Given the description of an element on the screen output the (x, y) to click on. 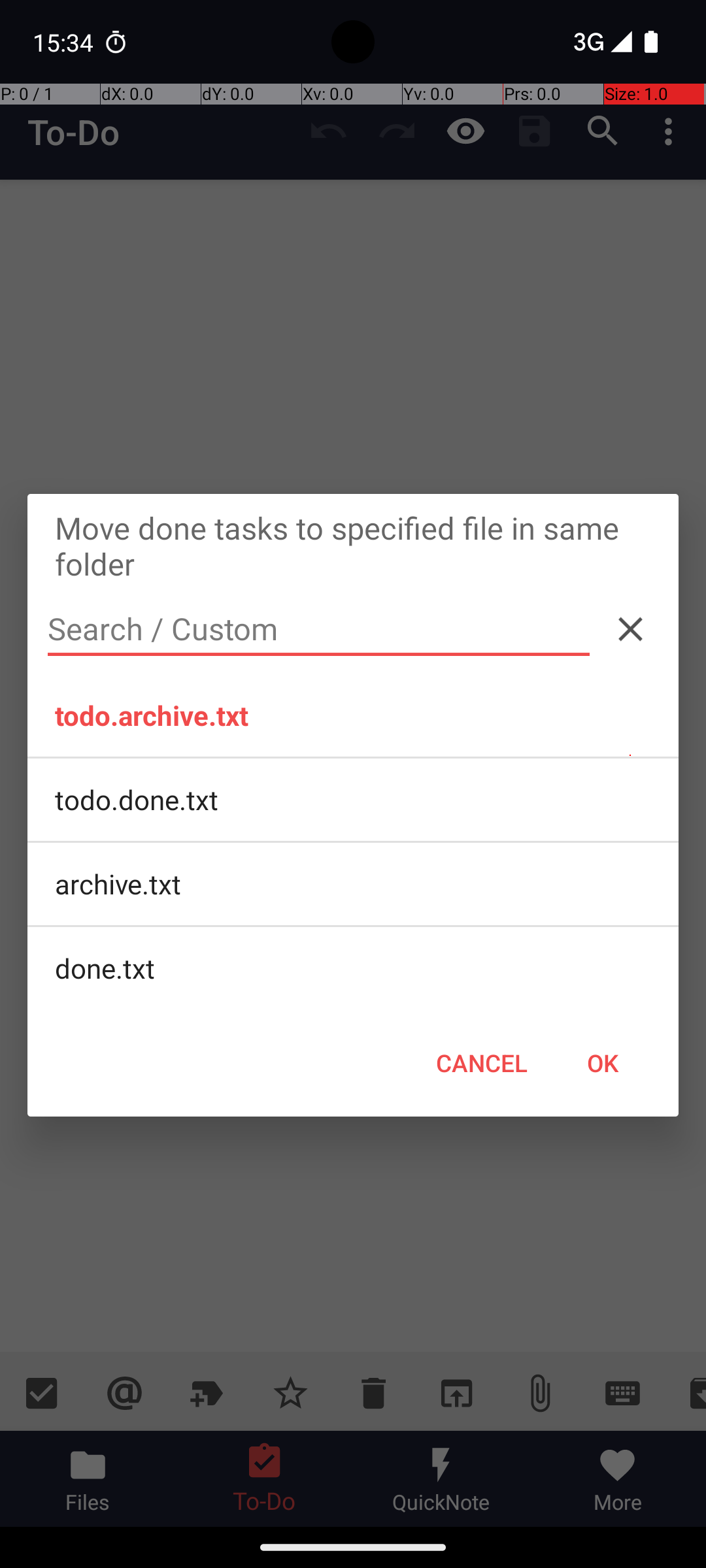
Move done tasks to specified file in same folder Element type: android.widget.TextView (352, 545)
Search / Custom Element type: android.widget.EditText (318, 628)
todo.archive.txt Element type: android.widget.TextView (352, 715)
todo.done.txt Element type: android.widget.TextView (352, 799)
archive.txt Element type: android.widget.TextView (352, 883)
done.txt Element type: android.widget.TextView (352, 968)
